Given the description of an element on the screen output the (x, y) to click on. 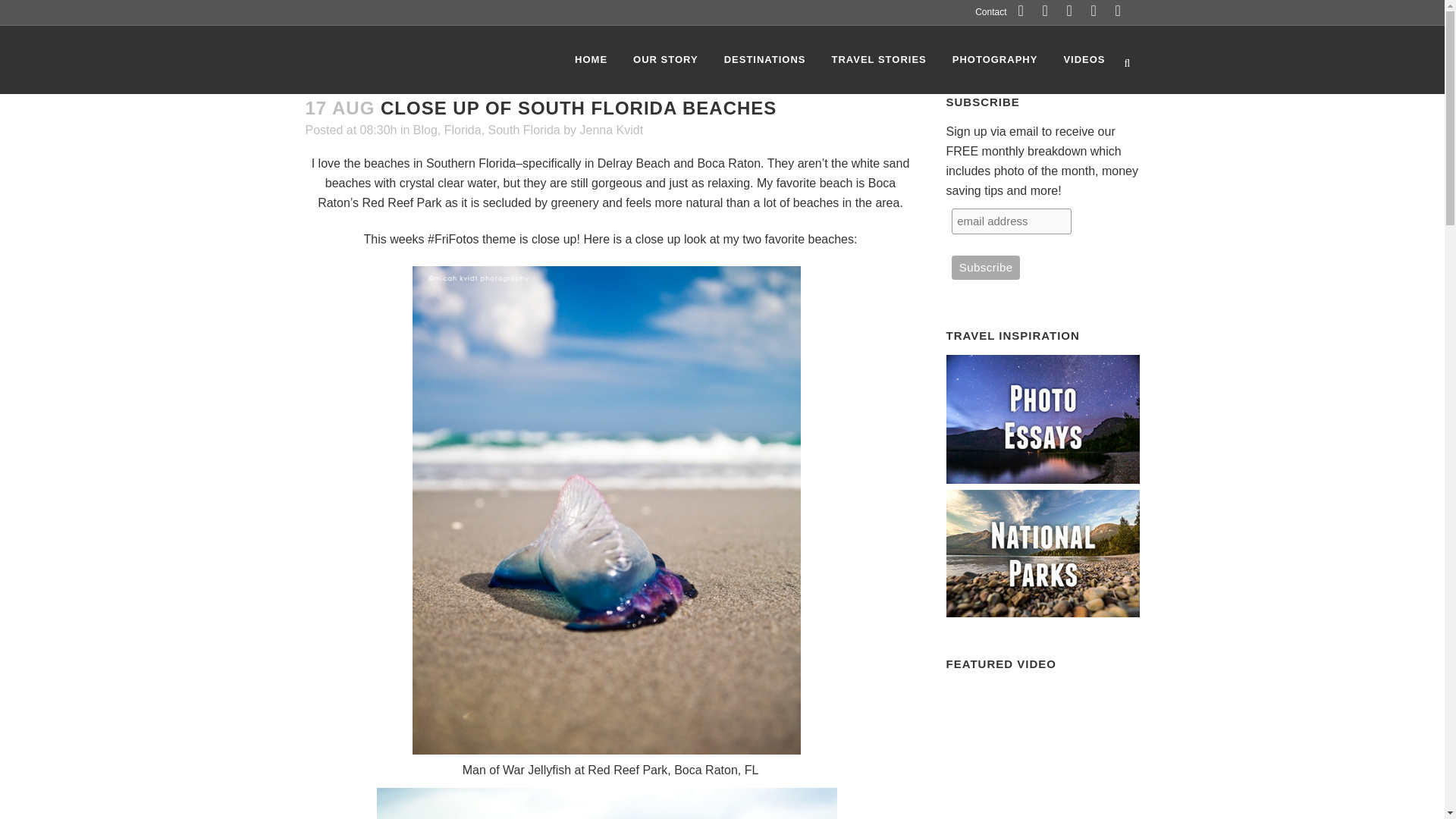
VIDEOS (1083, 59)
Subscribe (986, 267)
Blog (425, 129)
TRAVEL STORIES (878, 59)
DESTINATIONS (764, 59)
South Florida (523, 129)
Jenna Kvidt (611, 129)
Coconut (605, 803)
Contact (984, 12)
Florida (462, 129)
PHOTOGRAPHY (995, 59)
OUR STORY (665, 59)
